Given the description of an element on the screen output the (x, y) to click on. 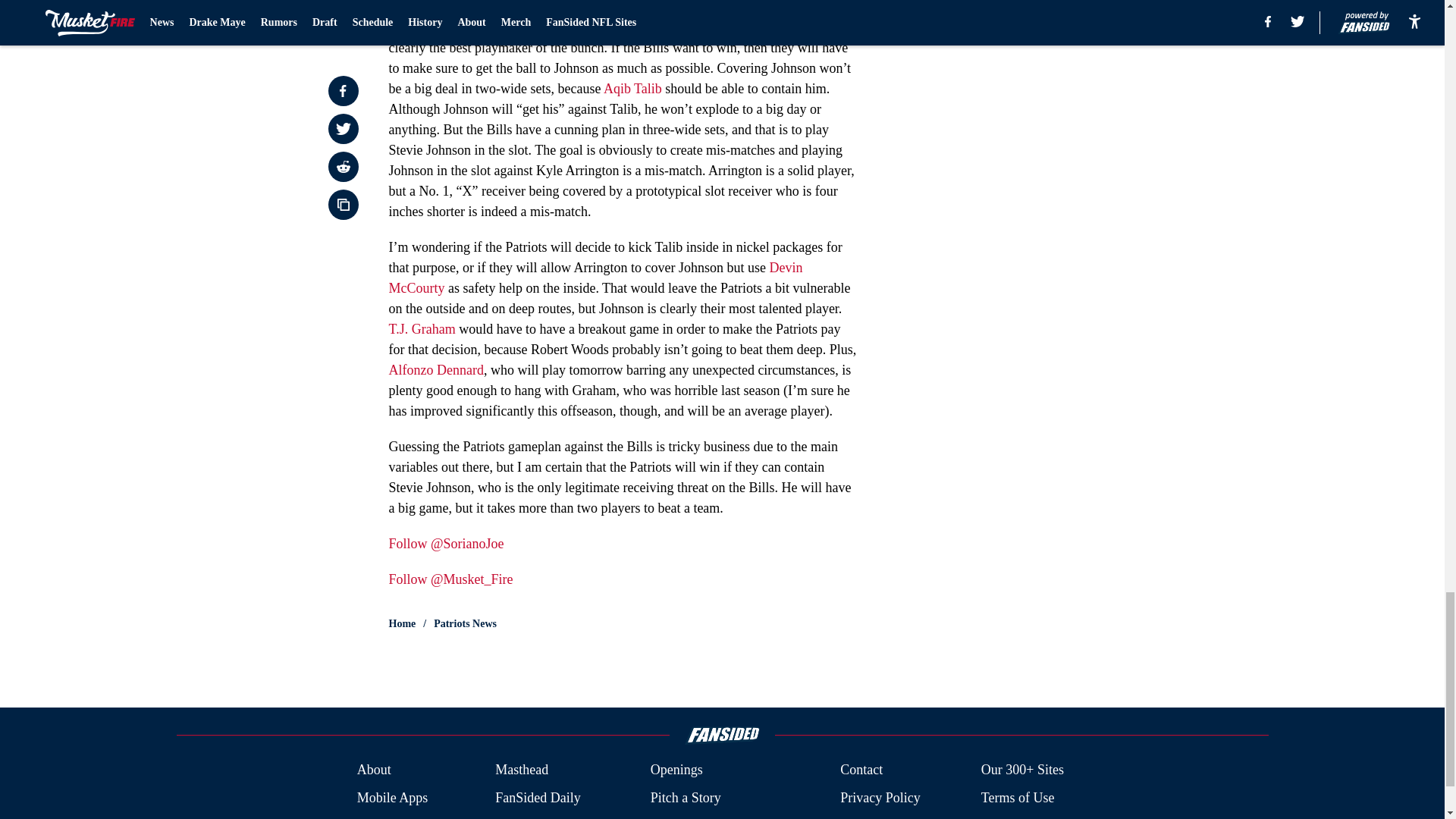
Alfonzo Dennard (435, 369)
Home (401, 623)
Devin McCourty (595, 277)
T.J. Graham (421, 328)
Aqib Talib (633, 88)
